Given the description of an element on the screen output the (x, y) to click on. 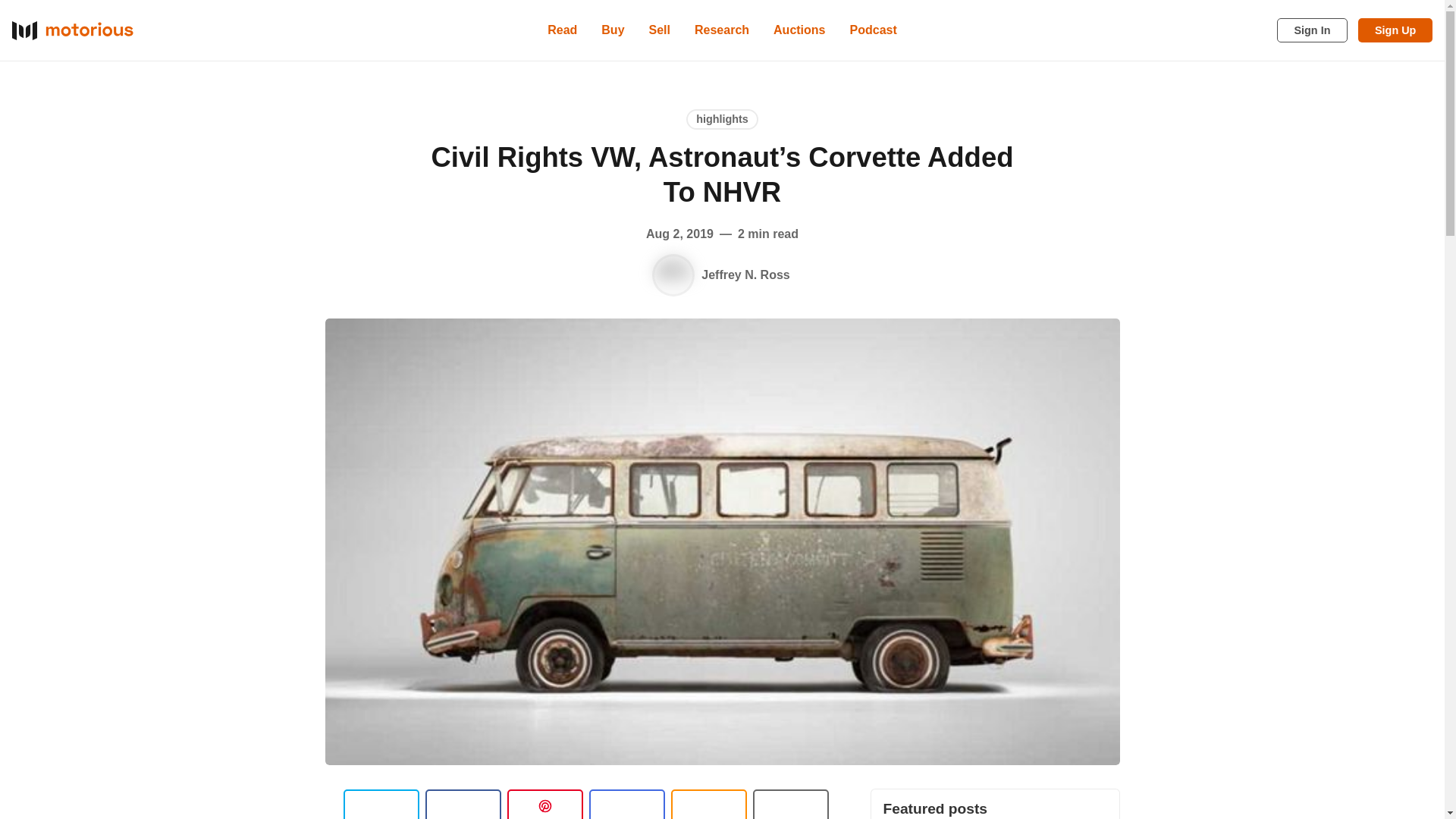
Podcast (873, 29)
Share on Linkedin (544, 804)
Auctions (799, 29)
highlights (721, 118)
Research (721, 29)
Sign Up (1395, 30)
Read (562, 29)
Jeffrey N. Ross (745, 274)
Copy to clipboard (707, 804)
Share on Twitter (380, 804)
Share by email (625, 804)
Jeffrey N. Ross (673, 275)
Share on Facebook (462, 804)
Sell (659, 29)
Bookmark (790, 804)
